Given the description of an element on the screen output the (x, y) to click on. 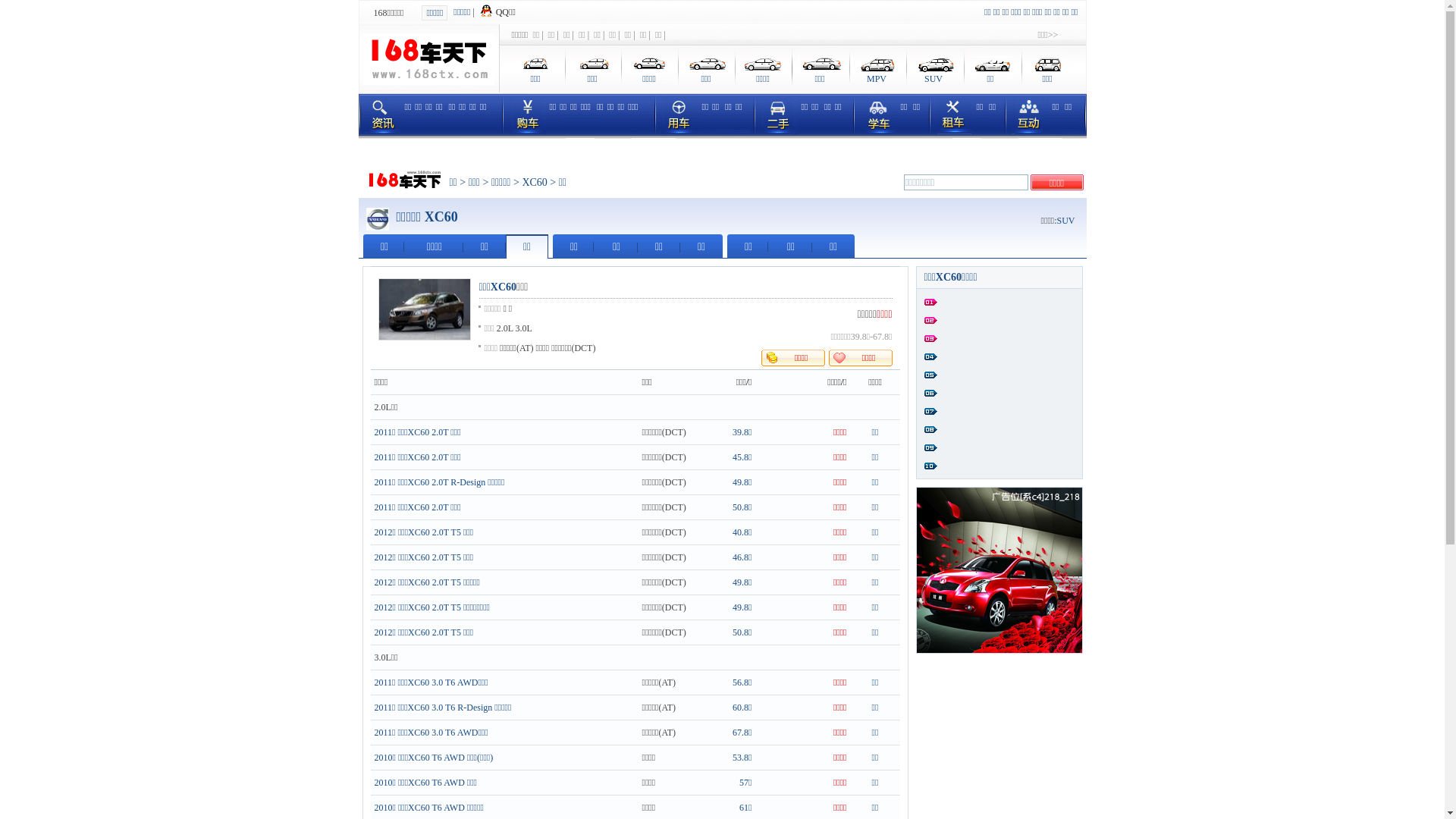
MPV Element type: text (875, 68)
SUV Element type: text (1065, 220)
SUV Element type: text (933, 68)
XC60 Element type: text (533, 182)
